Given the description of an element on the screen output the (x, y) to click on. 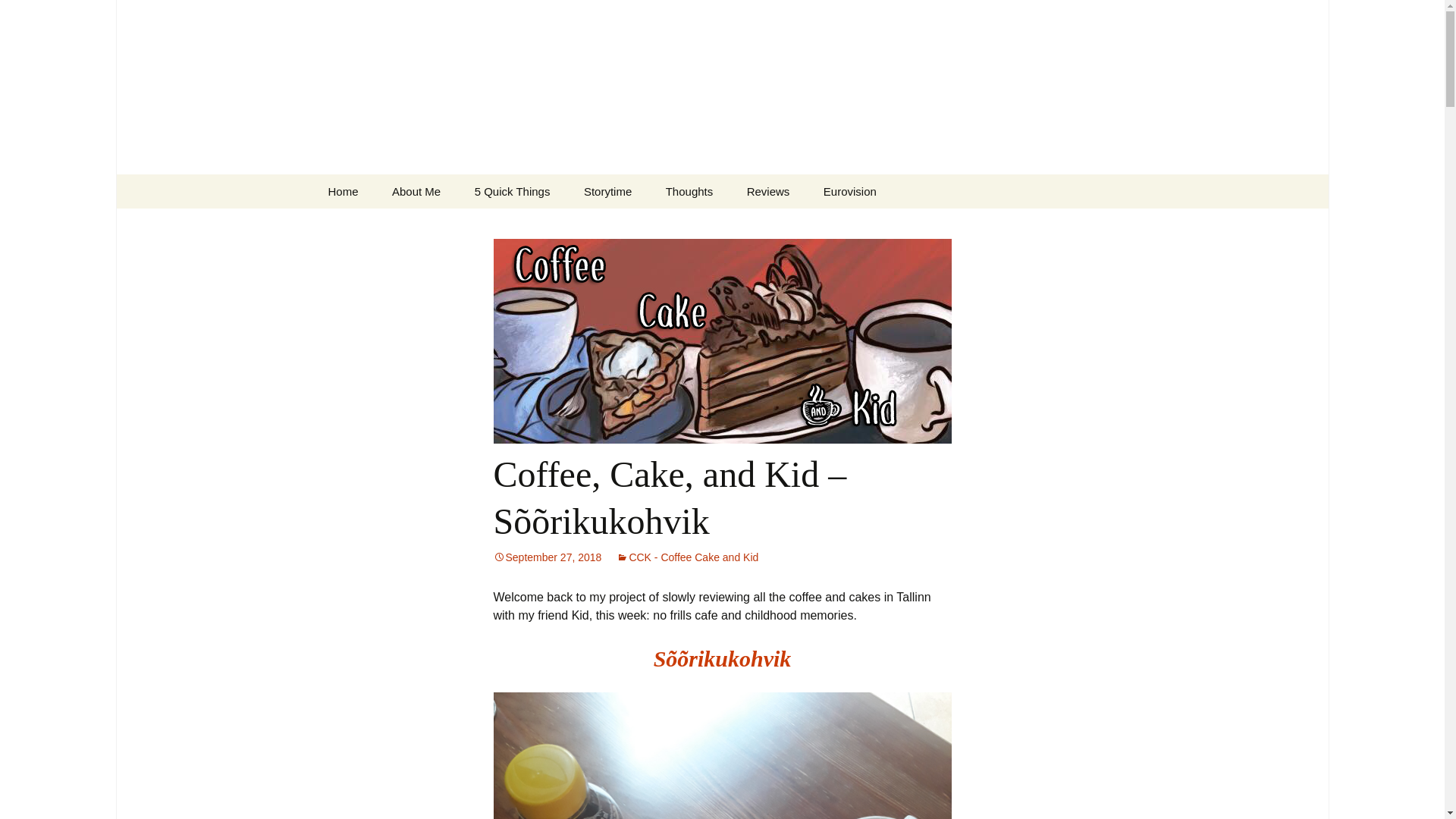
Reviews (768, 191)
About Me (416, 191)
CCK - Coffee Cake and Kid (686, 557)
Search (34, 15)
Home (342, 191)
Eurovision 2017 (883, 225)
Thoughts (689, 191)
Storytime (607, 191)
September 27, 2018 (547, 557)
